Given the description of an element on the screen output the (x, y) to click on. 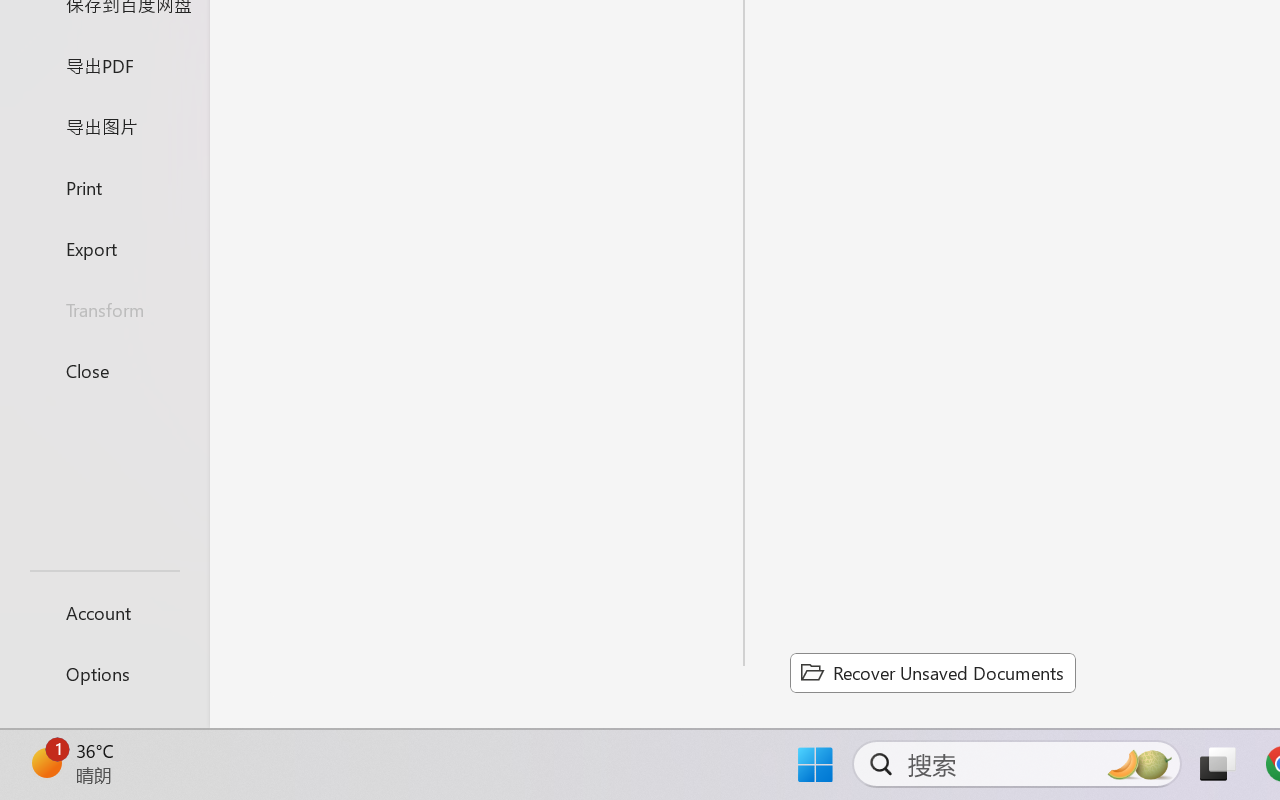
Print (104, 186)
Account (104, 612)
Recover Unsaved Documents (932, 672)
Export (104, 248)
Transform (104, 309)
Options (104, 673)
